Given the description of an element on the screen output the (x, y) to click on. 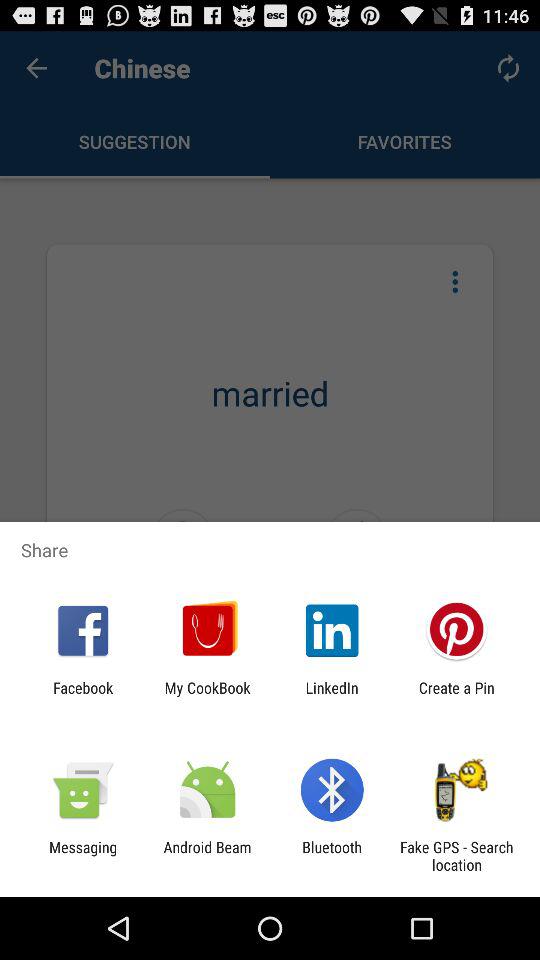
swipe until the messaging icon (83, 856)
